Given the description of an element on the screen output the (x, y) to click on. 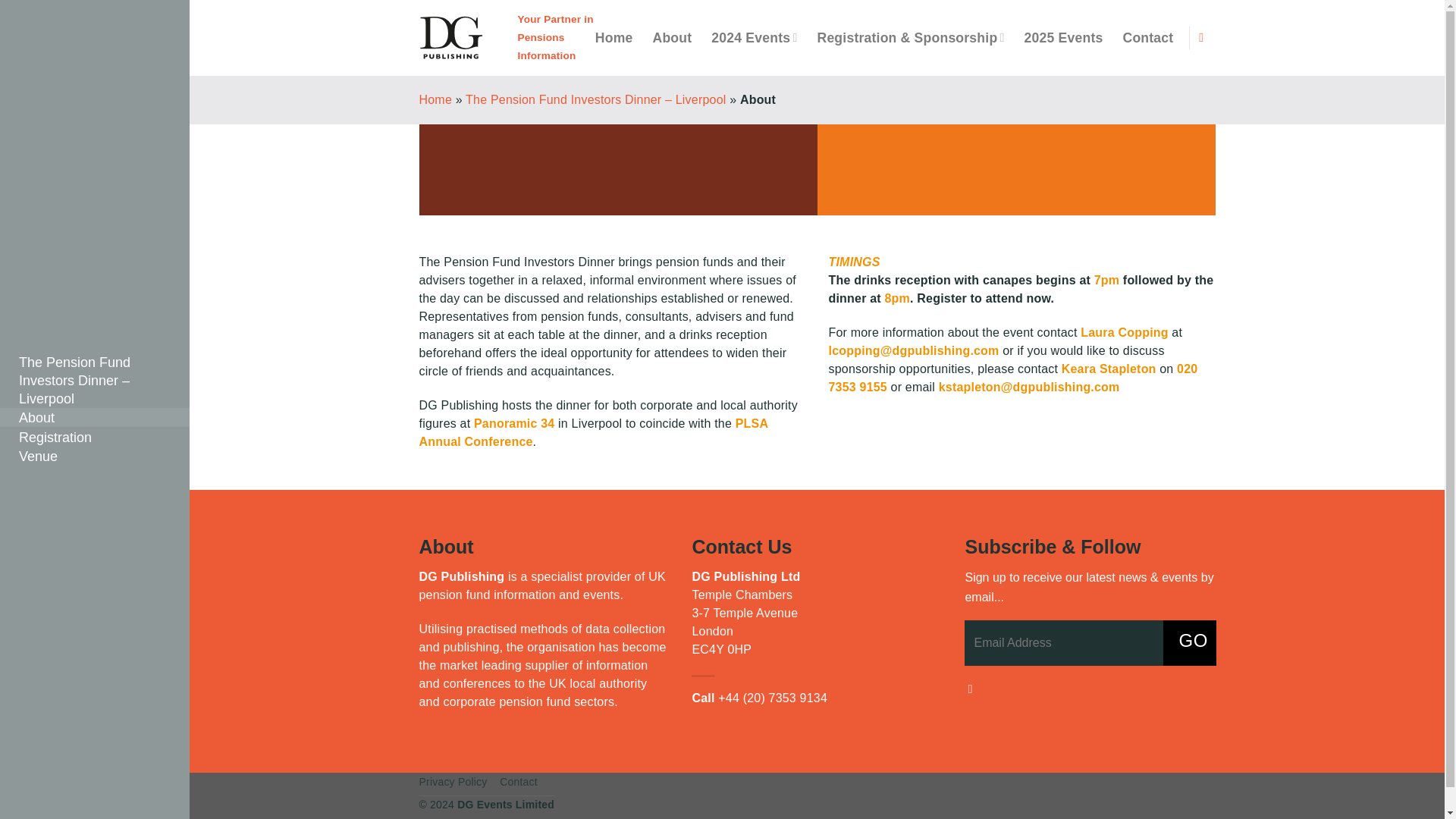
GO (1189, 642)
Home (614, 37)
About (671, 37)
Follow on LinkedIn (1204, 37)
2025 Events (1064, 37)
About (94, 416)
Privacy Policy (452, 781)
Home (435, 99)
2024 Events (753, 37)
PLSA Annual Conference (593, 431)
